Given the description of an element on the screen output the (x, y) to click on. 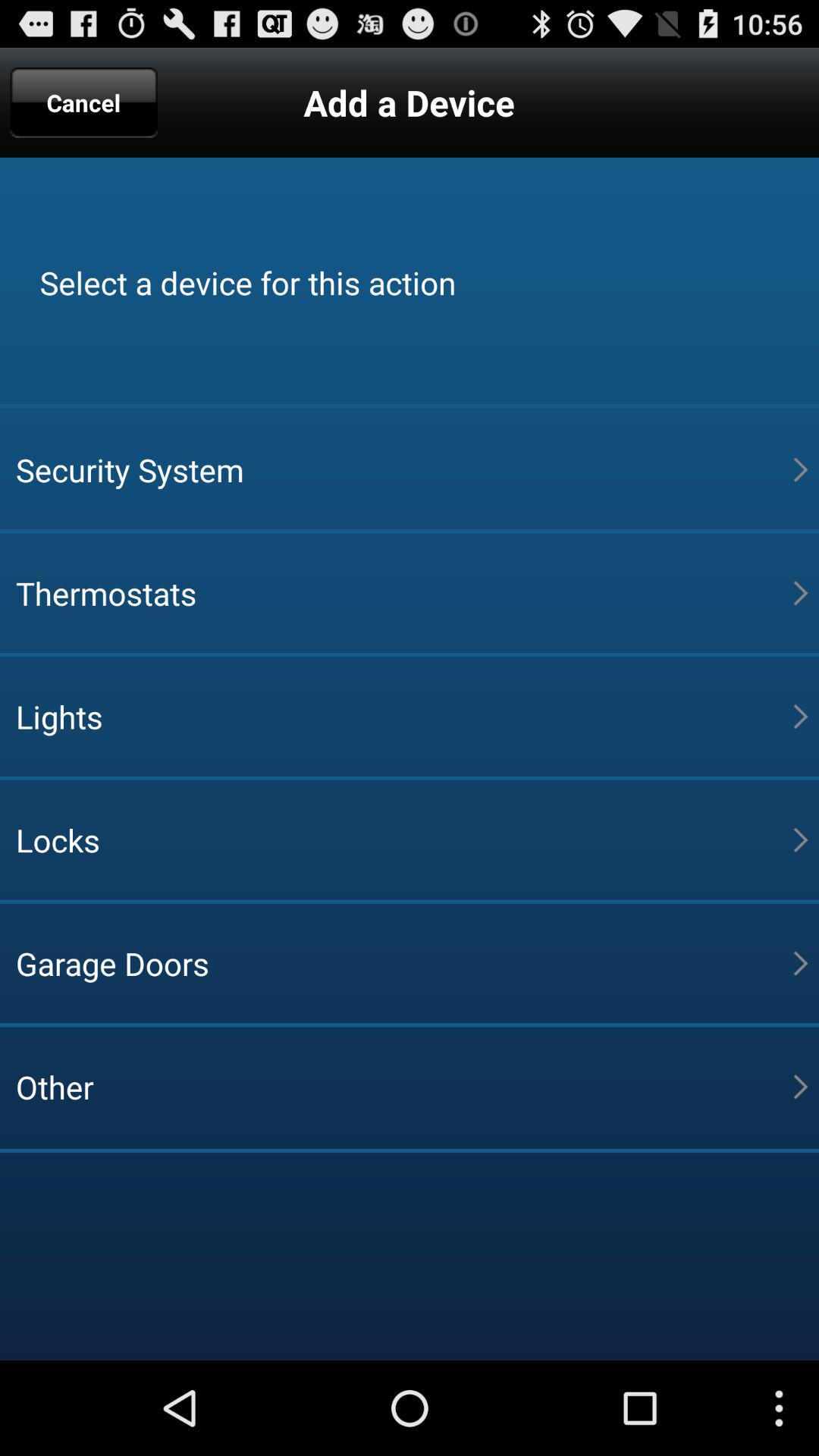
choose app below the locks item (403, 963)
